Given the description of an element on the screen output the (x, y) to click on. 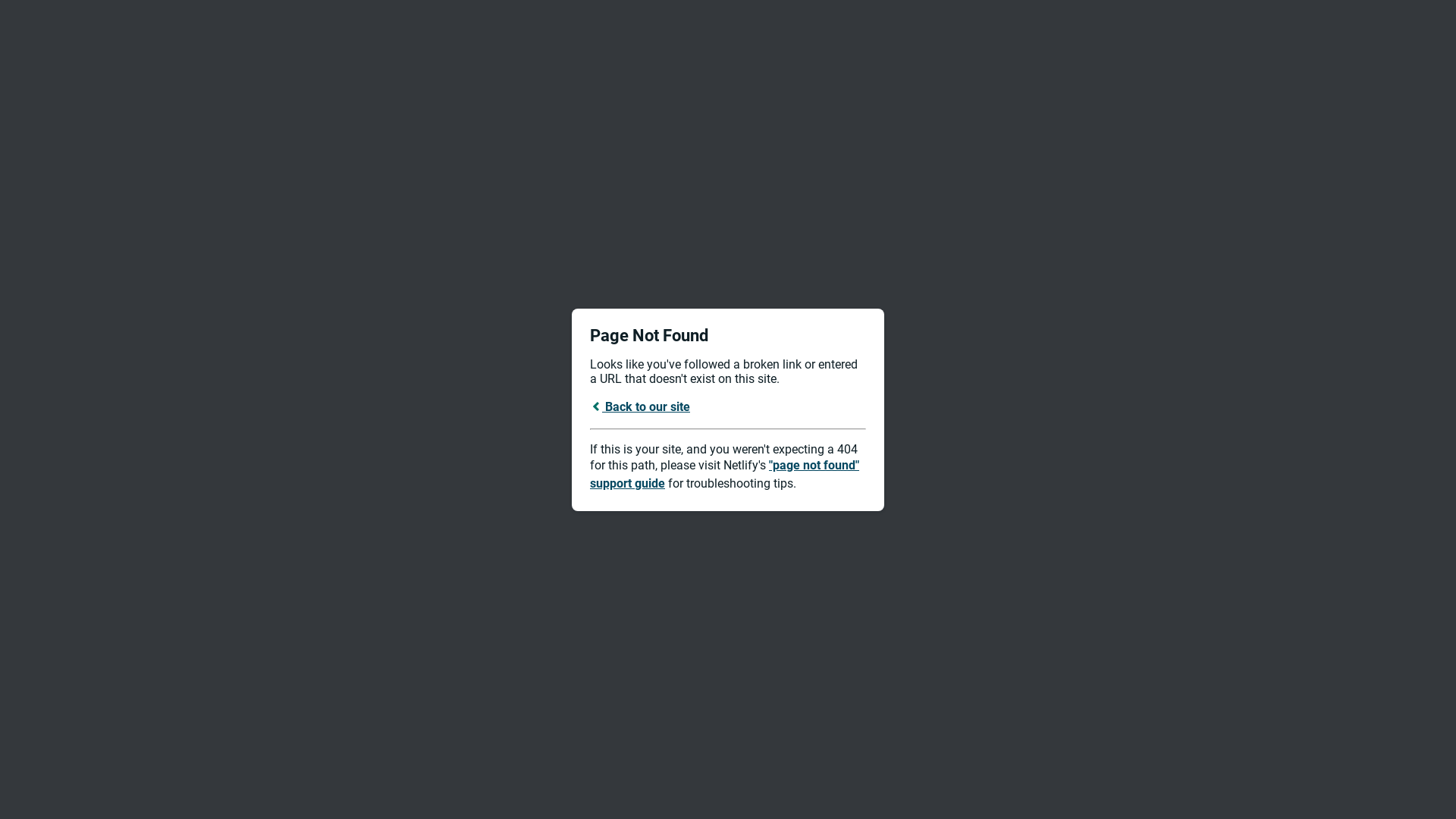
"page not found" support guide Element type: text (724, 474)
Back to our site Element type: text (639, 405)
